Given the description of an element on the screen output the (x, y) to click on. 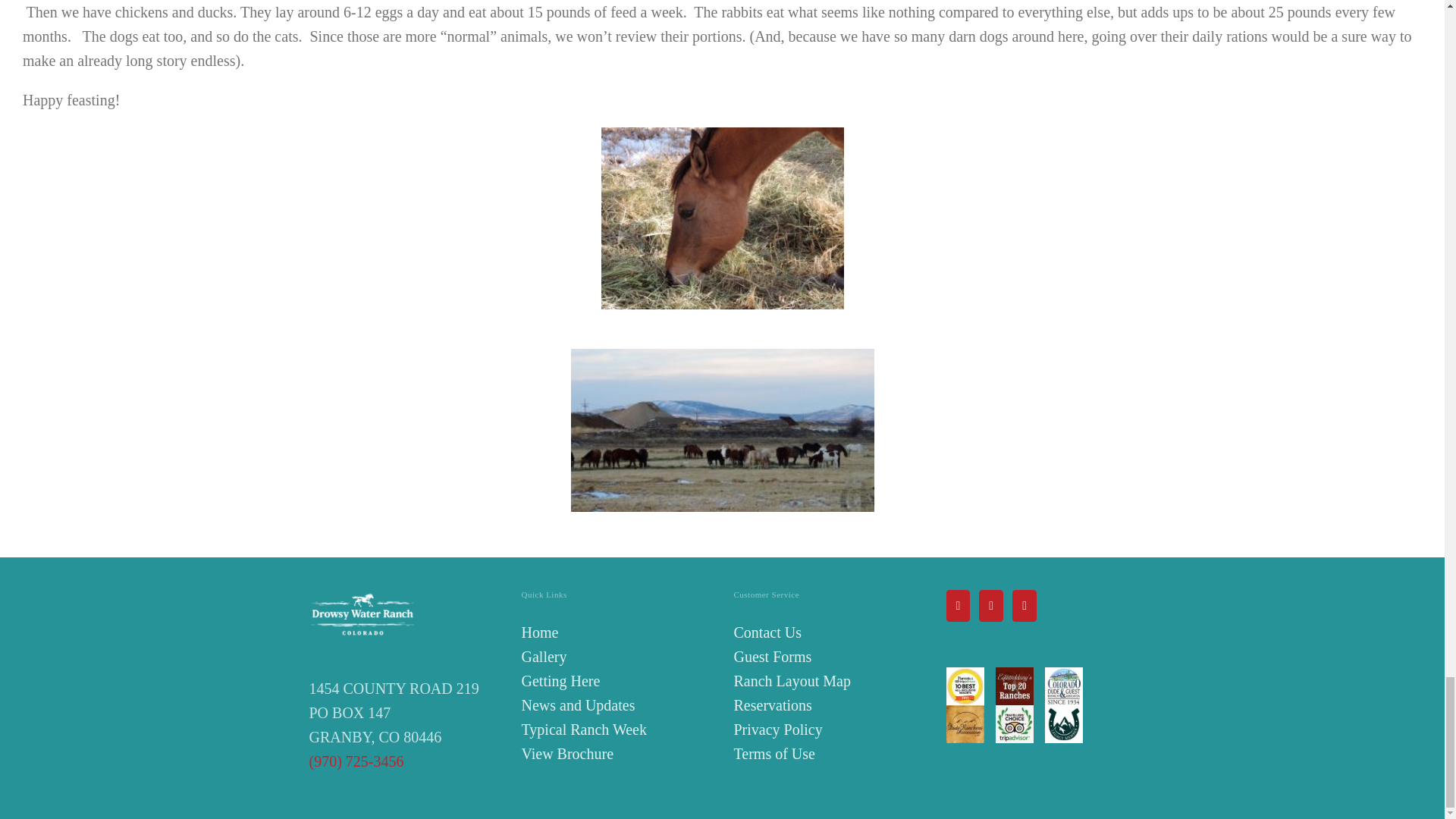
Call via Hangouts (356, 760)
Drowsy Water Ranch Brochure (567, 753)
